Given the description of an element on the screen output the (x, y) to click on. 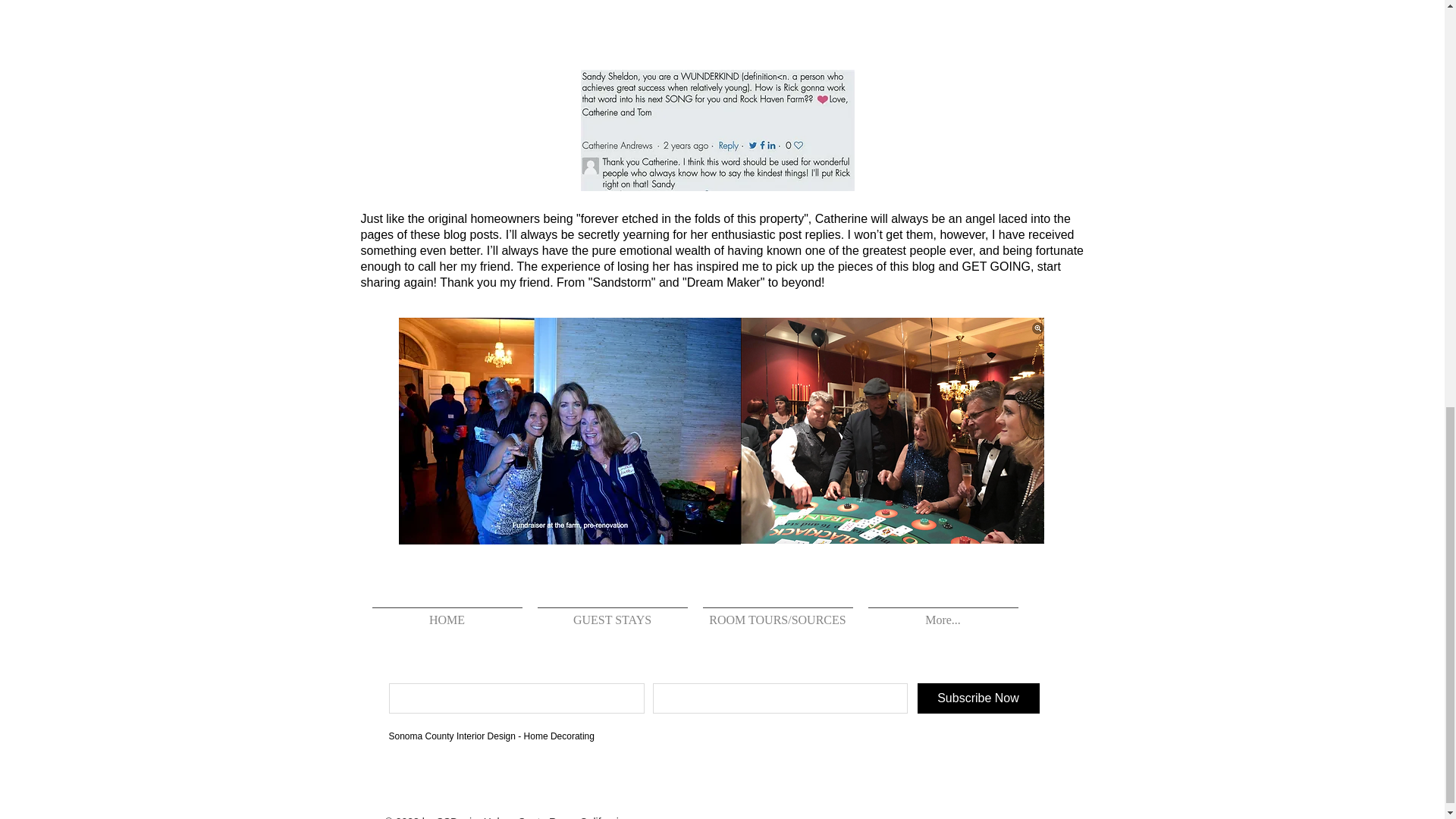
Charity event for Cots Homeless Shelter, Santa Rosa, CA (569, 430)
HOME (446, 613)
GUEST STAYS (611, 613)
